Given the description of an element on the screen output the (x, y) to click on. 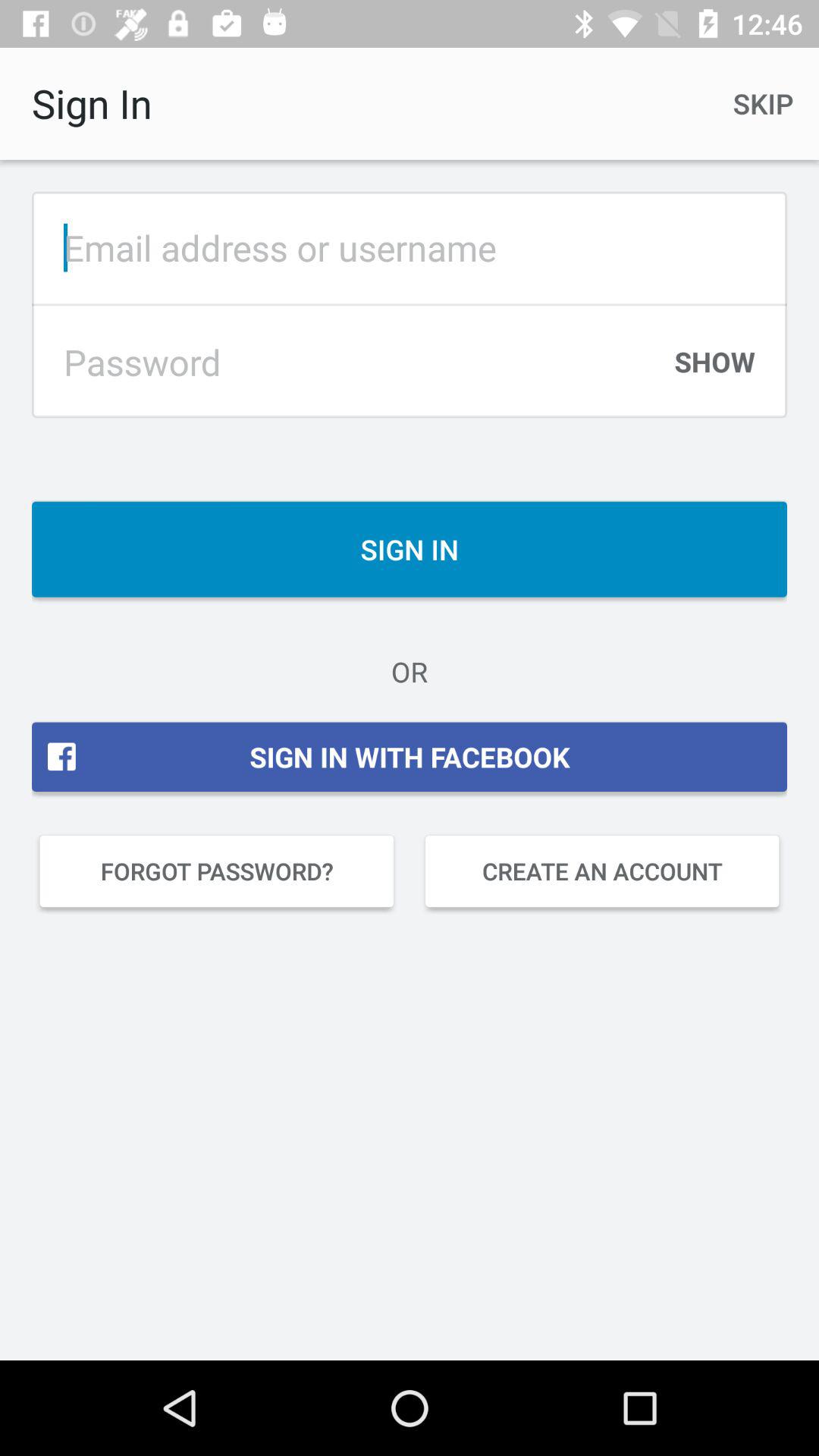
flip to forgot password? icon (216, 871)
